Given the description of an element on the screen output the (x, y) to click on. 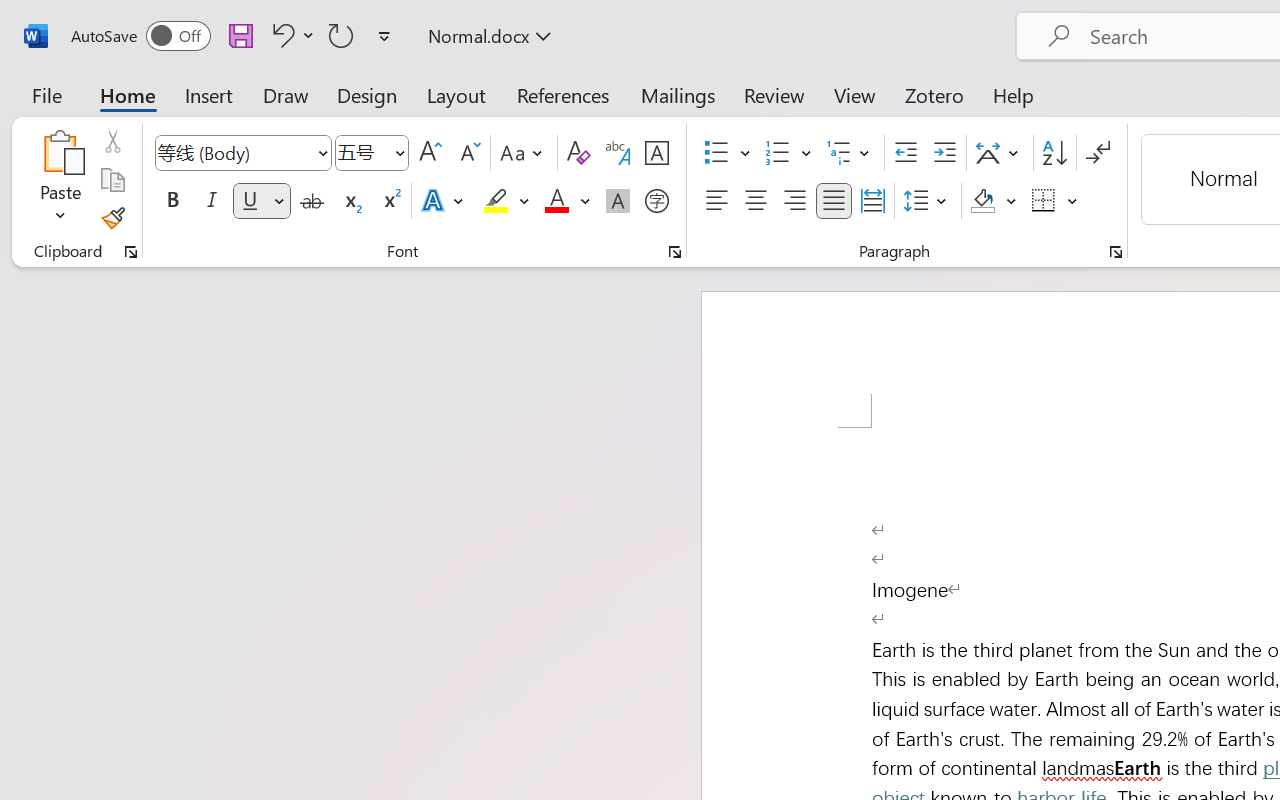
Undo Paste Destination Formatting (290, 35)
Strikethrough (312, 201)
Distributed (872, 201)
Undo Paste Destination Formatting (280, 35)
Align Left (716, 201)
Character Border (656, 153)
Justify (834, 201)
Enclose Characters... (656, 201)
Cut (112, 141)
Text Highlight Color Yellow (495, 201)
